Given the description of an element on the screen output the (x, y) to click on. 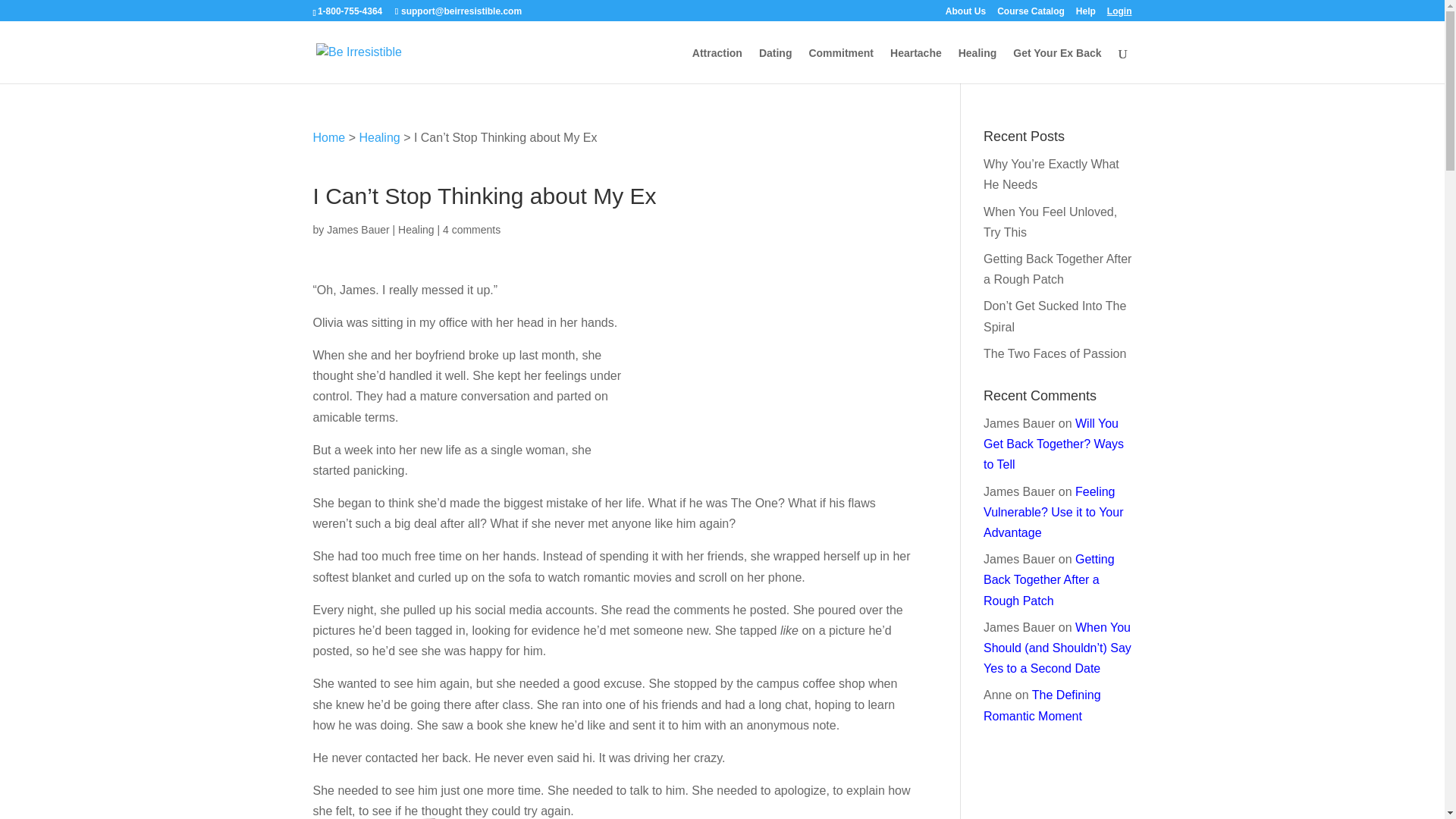
James Bauer (357, 229)
Feeling Vulnerable? Use it to Your Advantage (1053, 511)
Getting Back Together After a Rough Patch (1049, 579)
Attraction (717, 65)
The Two Faces of Passion (1054, 353)
4 comments (471, 229)
Healing (415, 229)
Healing (977, 65)
Course Catalog (1030, 14)
About Us (964, 14)
Dating (775, 65)
When You Feel Unloved, Try This (1050, 222)
Posts by James Bauer (357, 229)
Help (1085, 14)
Getting Back Together After a Rough Patch (1057, 268)
